Given the description of an element on the screen output the (x, y) to click on. 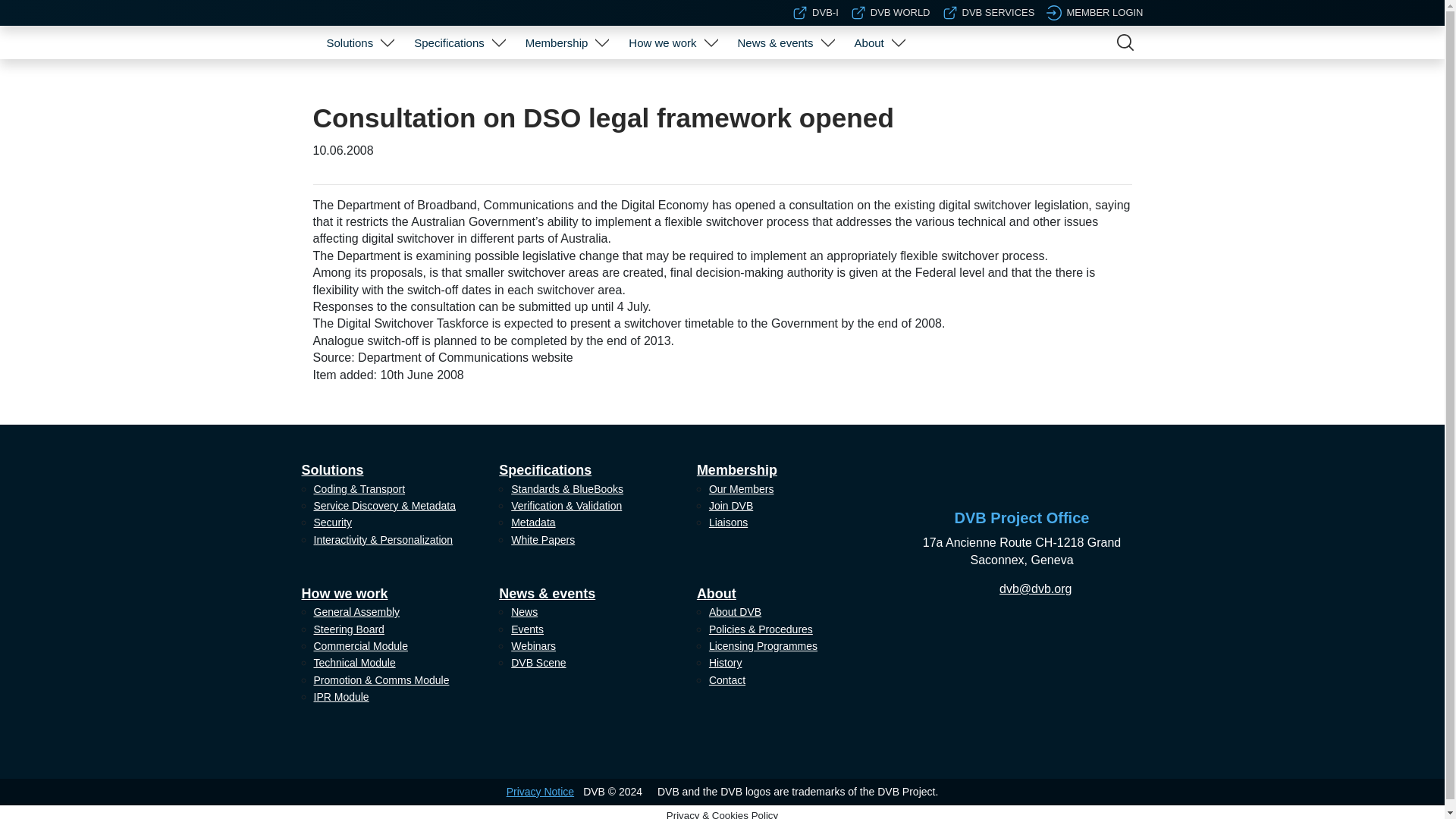
Solutions (349, 41)
DVB-I (815, 12)
News (783, 80)
General Assembly (670, 80)
About (868, 41)
Specifications (448, 41)
DVB WORLD (890, 12)
About DVB (877, 80)
DVB SERVICES (988, 12)
How we work (662, 41)
MEMBER LOGIN (1094, 12)
Our Members (564, 80)
Membership (556, 41)
